Given the description of an element on the screen output the (x, y) to click on. 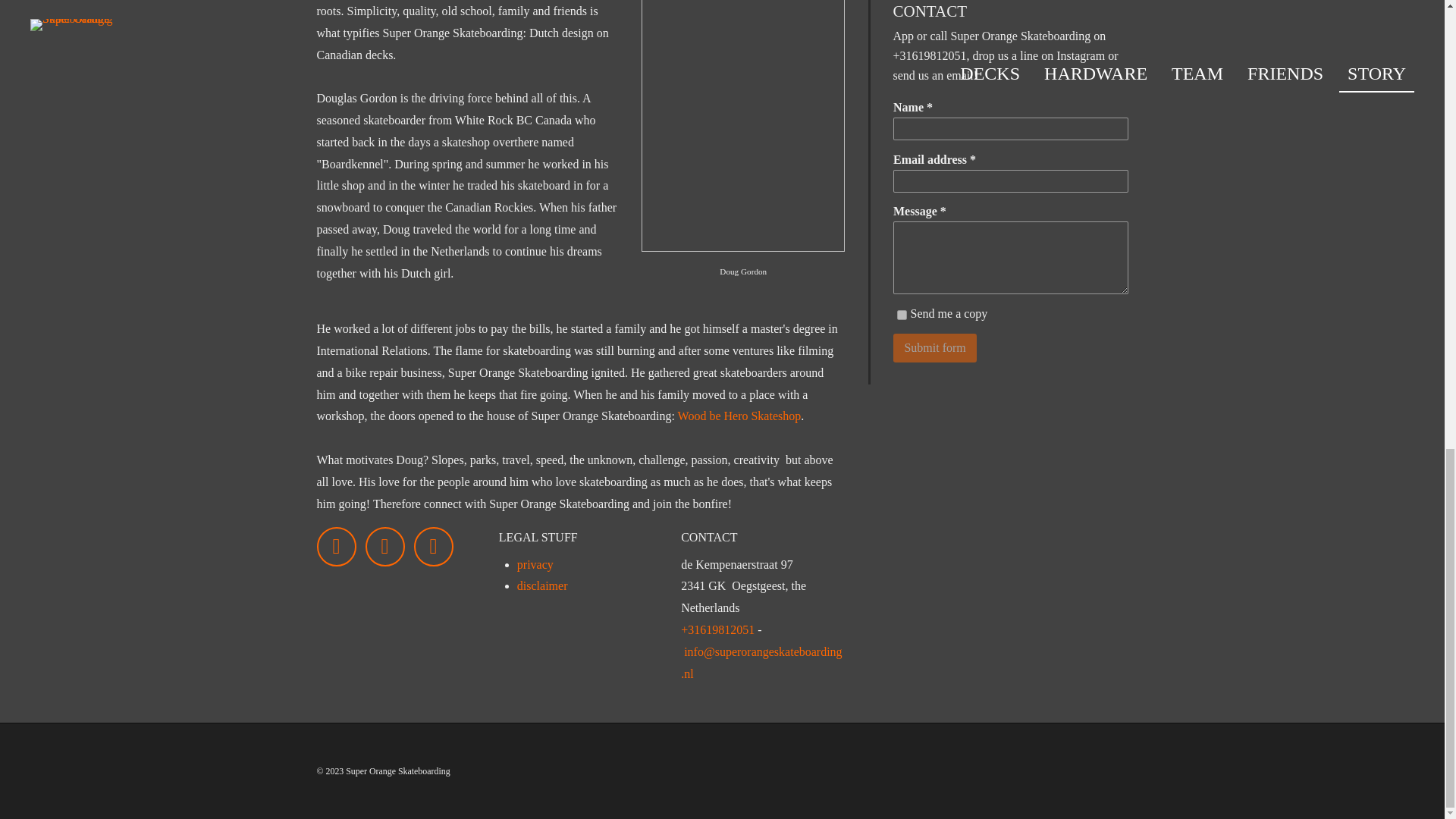
privacy (534, 563)
Wood be Hero Skateshop (740, 415)
1 (900, 315)
disclaimer (541, 585)
Submit form (934, 347)
